Given the description of an element on the screen output the (x, y) to click on. 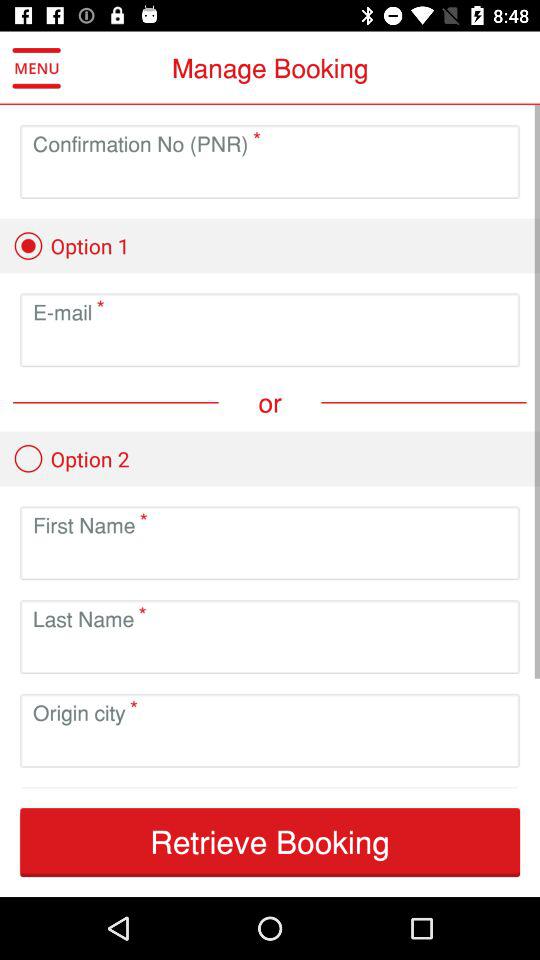
enter the confirmation number (270, 177)
